Given the description of an element on the screen output the (x, y) to click on. 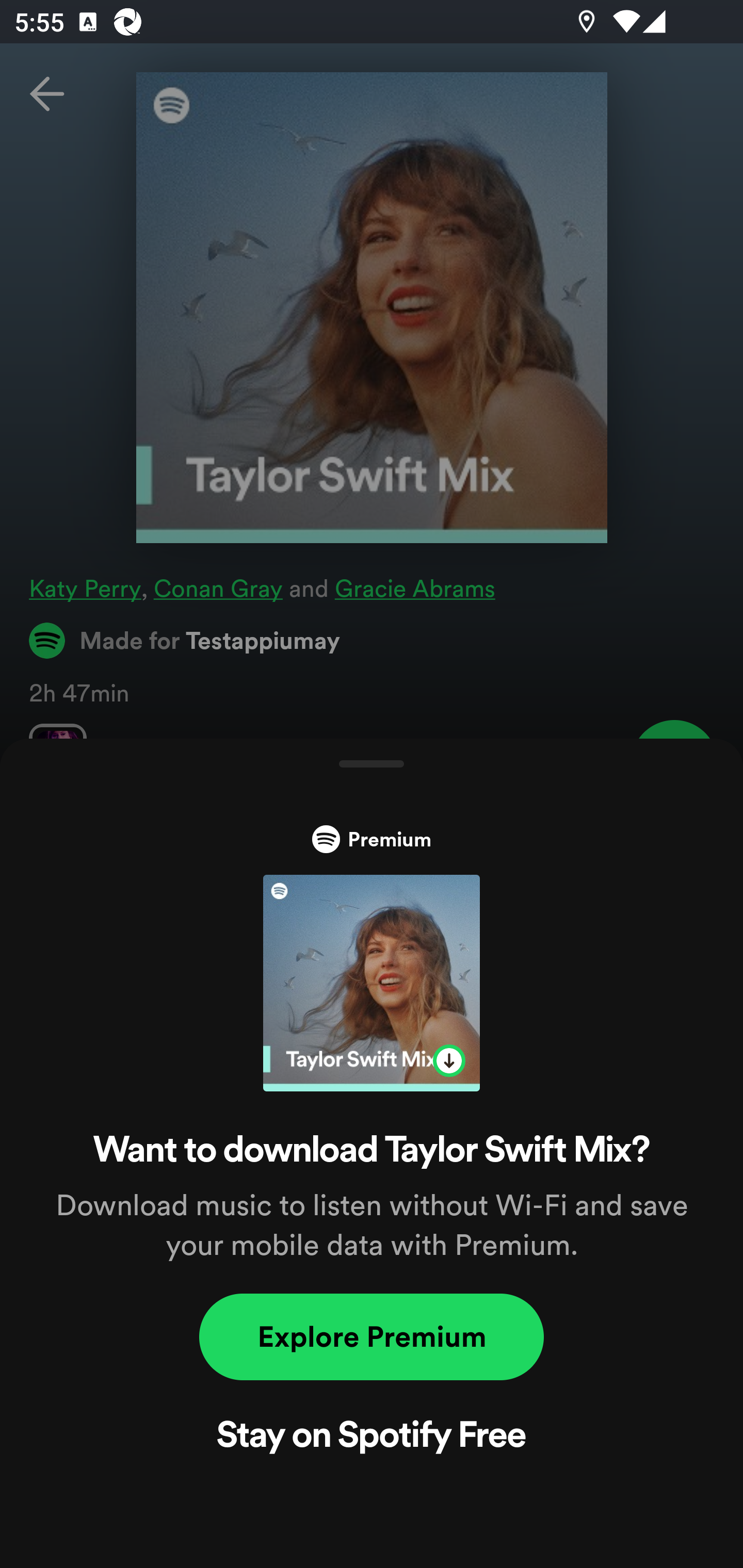
Explore Premium (371, 1336)
Stay on Spotify Free (371, 1437)
